Given the description of an element on the screen output the (x, y) to click on. 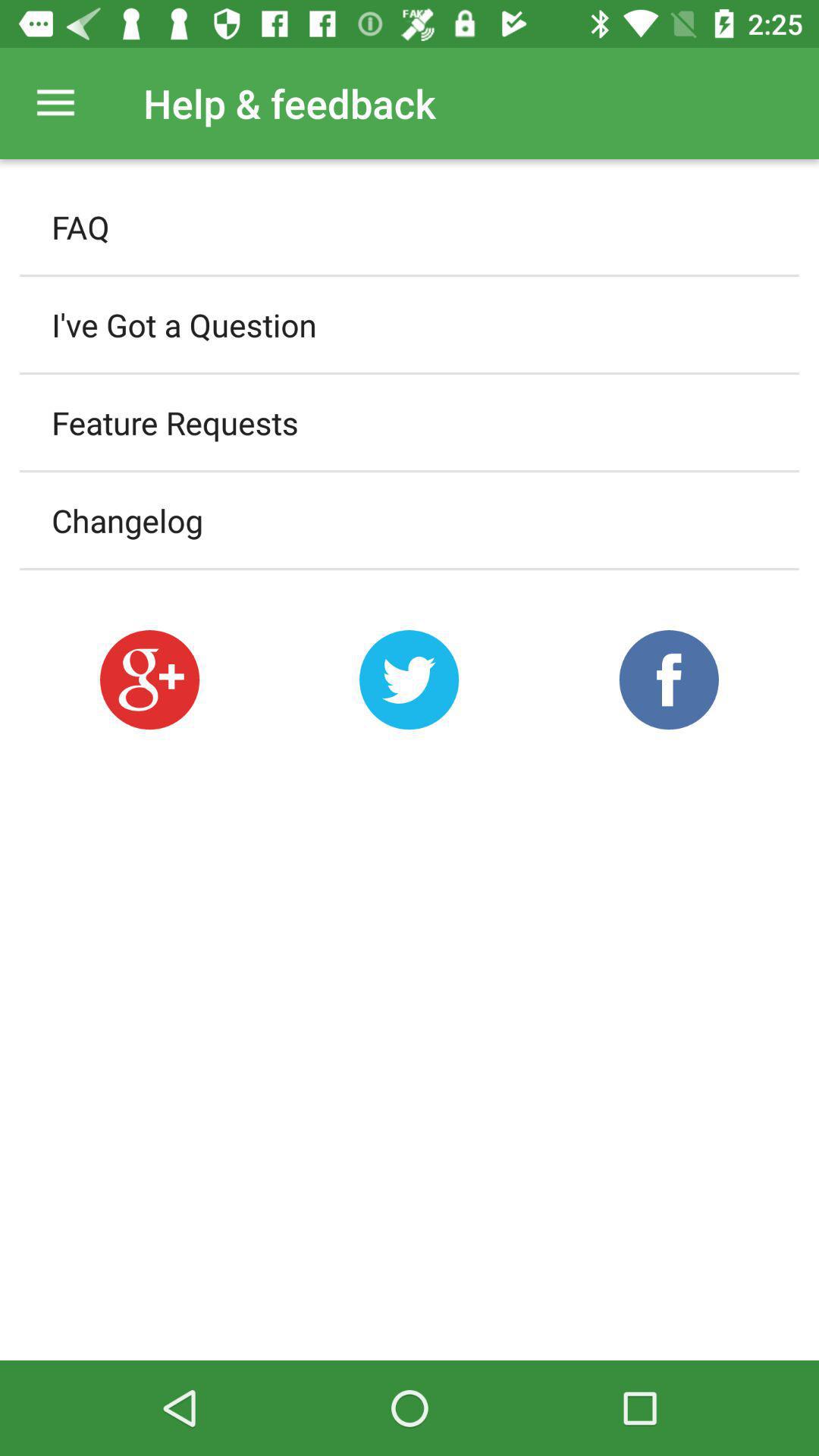
click the icon above the i ve got item (409, 226)
